Given the description of an element on the screen output the (x, y) to click on. 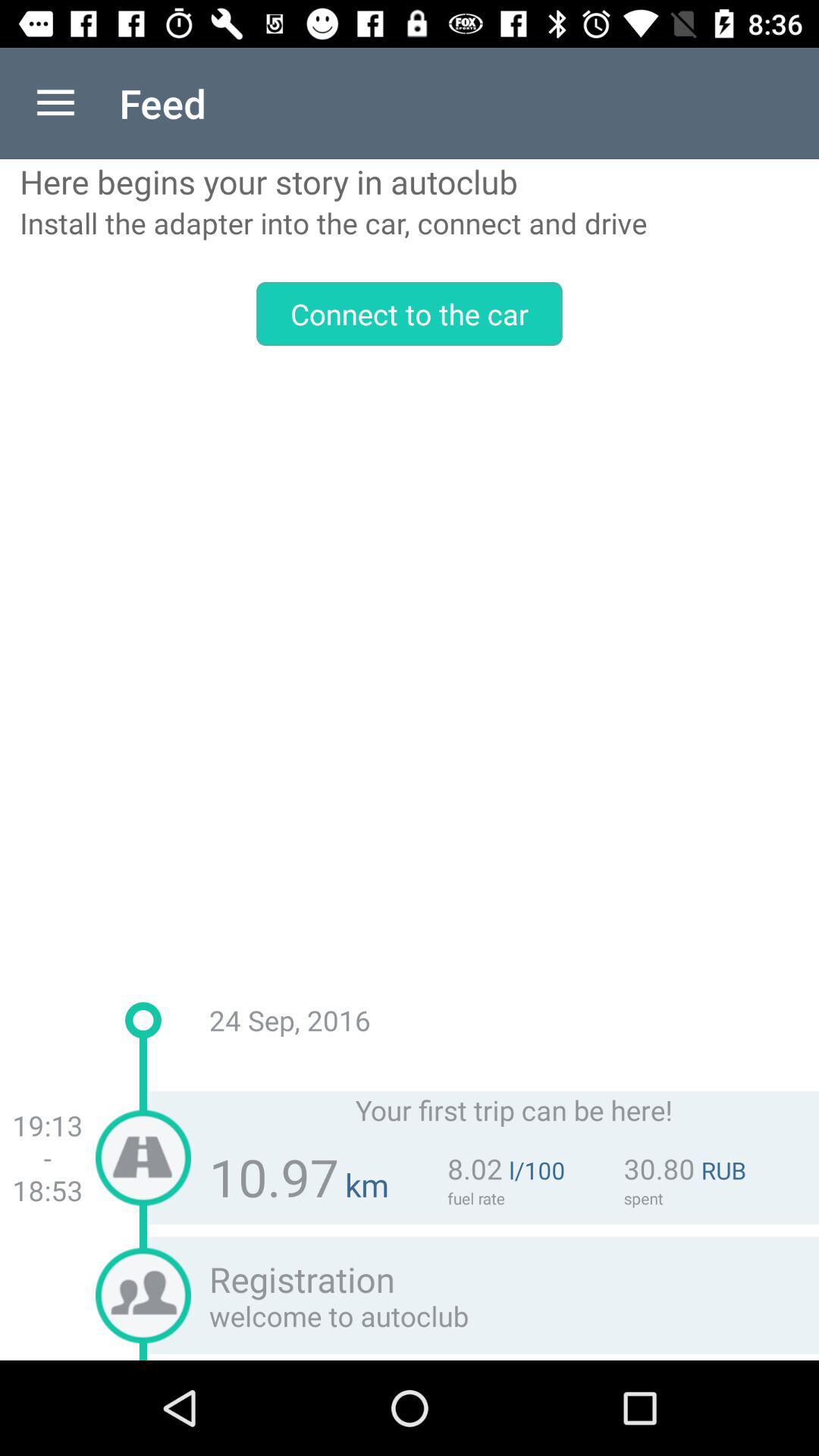
turn off app next to feed app (55, 103)
